Given the description of an element on the screen output the (x, y) to click on. 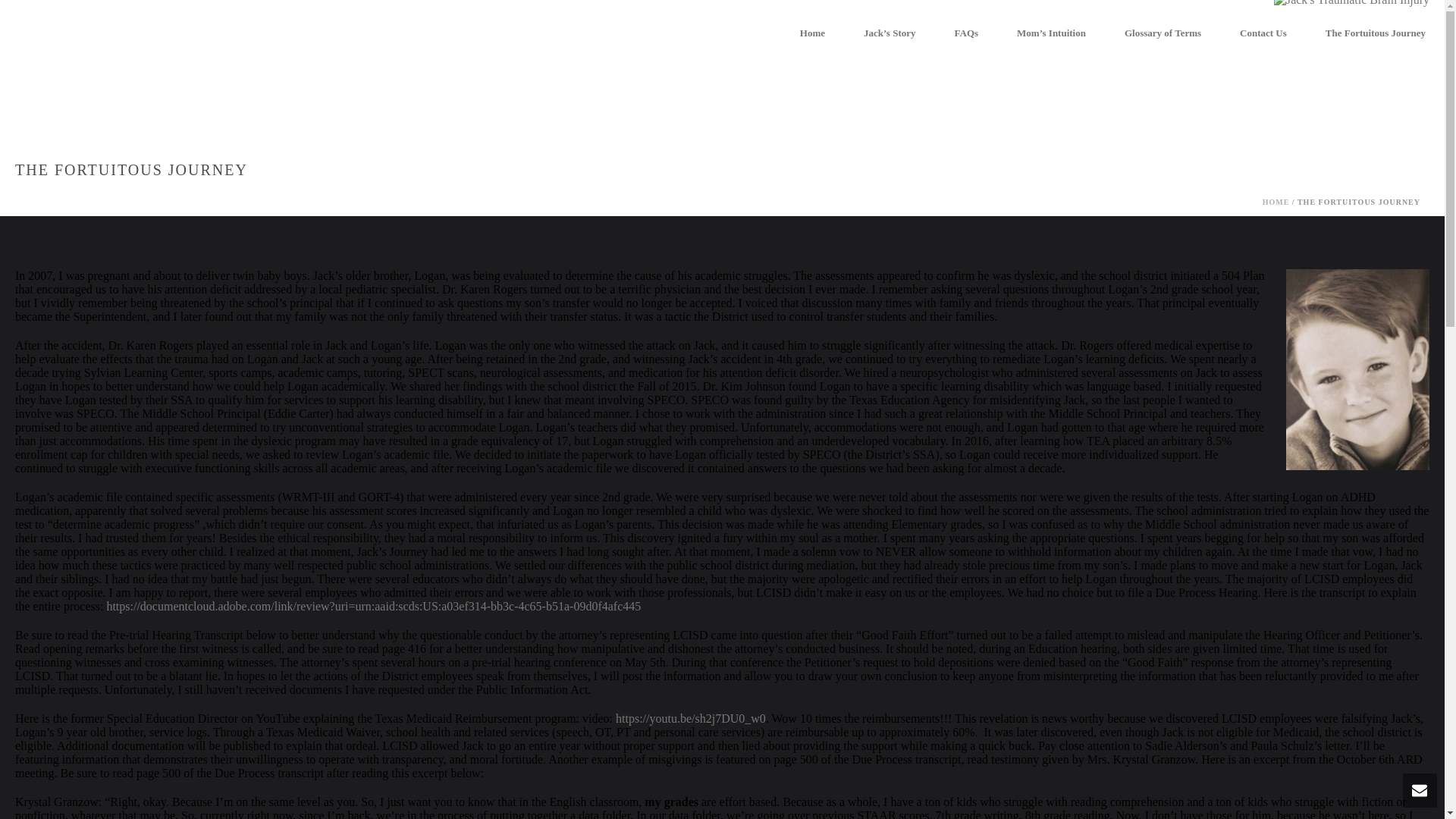
FAQs (966, 32)
FAQs (966, 32)
Jack Jack's Journey (1351, 6)
HOME (1276, 202)
Glossary of Terms (1162, 32)
Home (812, 32)
Contact Us (1263, 32)
Glossary of Terms (1162, 32)
Home (812, 32)
Contact Us (1263, 32)
